Given the description of an element on the screen output the (x, y) to click on. 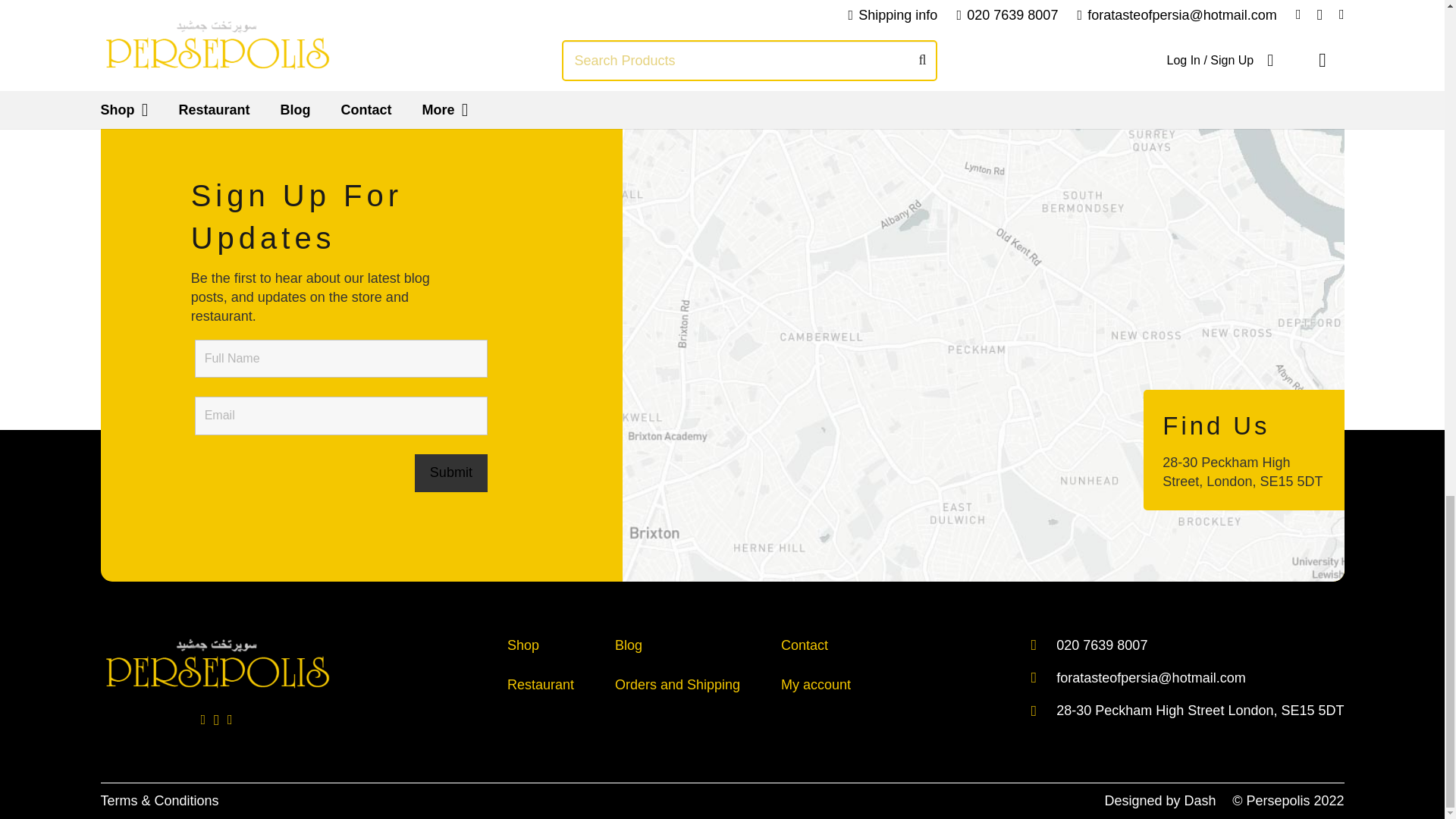
Contact (804, 645)
Shop (522, 645)
Submit (450, 473)
Blog (628, 645)
Submit (450, 473)
